Given the description of an element on the screen output the (x, y) to click on. 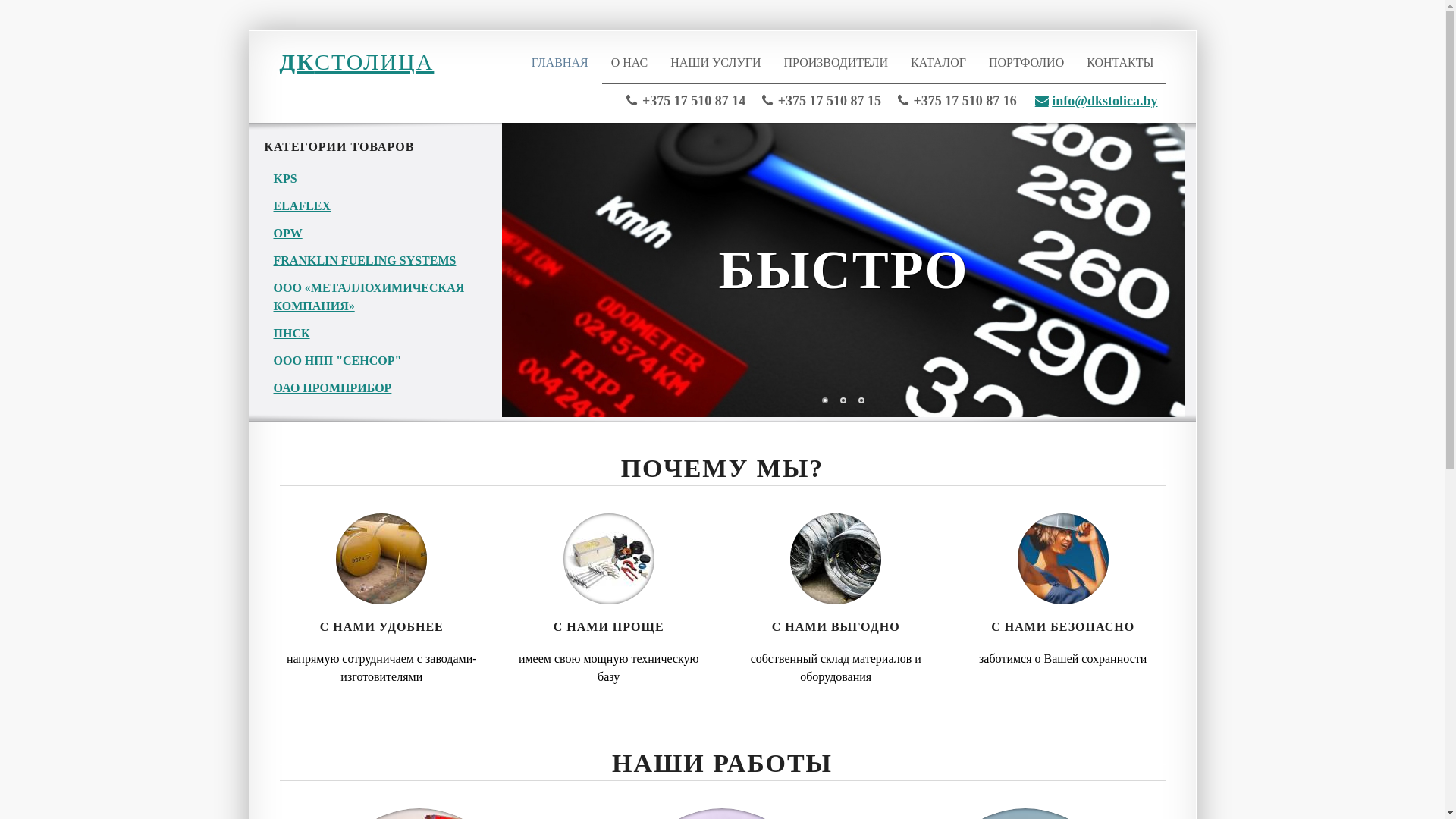
2 Element type: text (843, 400)
ELAFLEX Element type: text (301, 205)
FRANKLIN FUELING SYSTEMS Element type: text (364, 260)
KPS Element type: text (284, 178)
1 Element type: text (825, 400)
OPW Element type: text (287, 232)
3 Element type: text (861, 400)
info@dkstolica.by Element type: text (1096, 100)
